Given the description of an element on the screen output the (x, y) to click on. 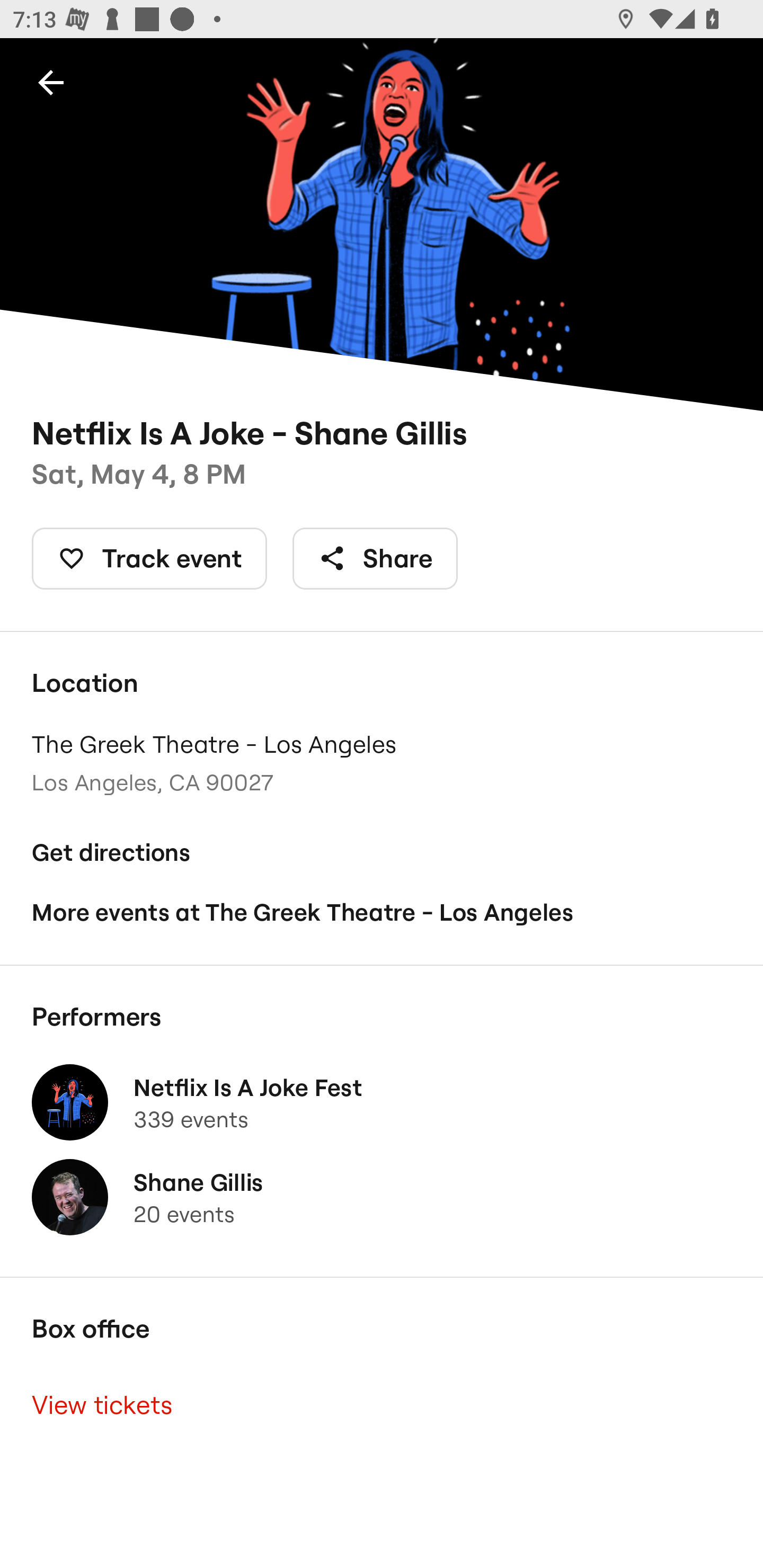
Back (50, 81)
Track event (149, 557)
Share (374, 557)
Get directions (381, 852)
More events at The Greek Theatre - Los Angeles (381, 912)
Netflix Is A Joke Fest 339 events (381, 1102)
Shane Gillis 20 events (381, 1196)
View tickets (381, 1405)
